Given the description of an element on the screen output the (x, y) to click on. 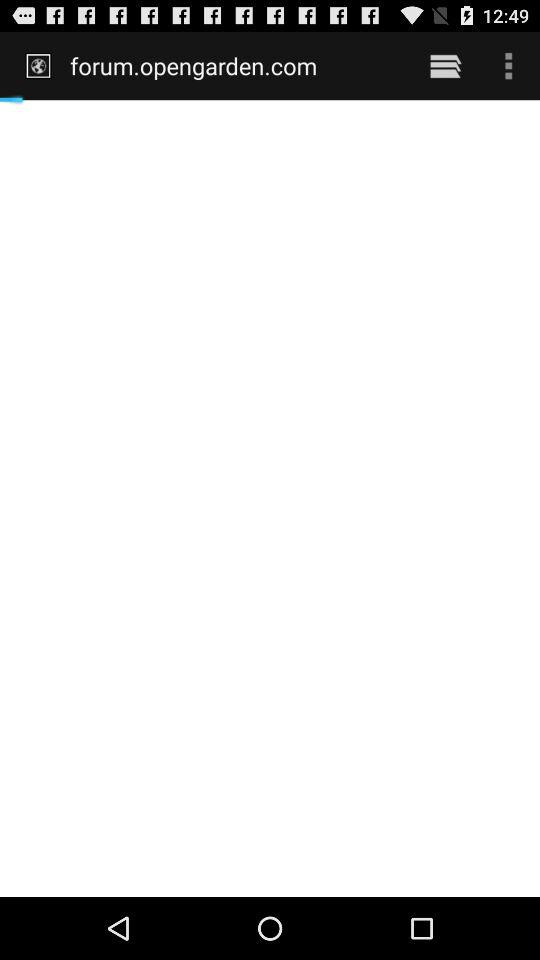
select item to the right of forum.opengarden.com (444, 65)
